Given the description of an element on the screen output the (x, y) to click on. 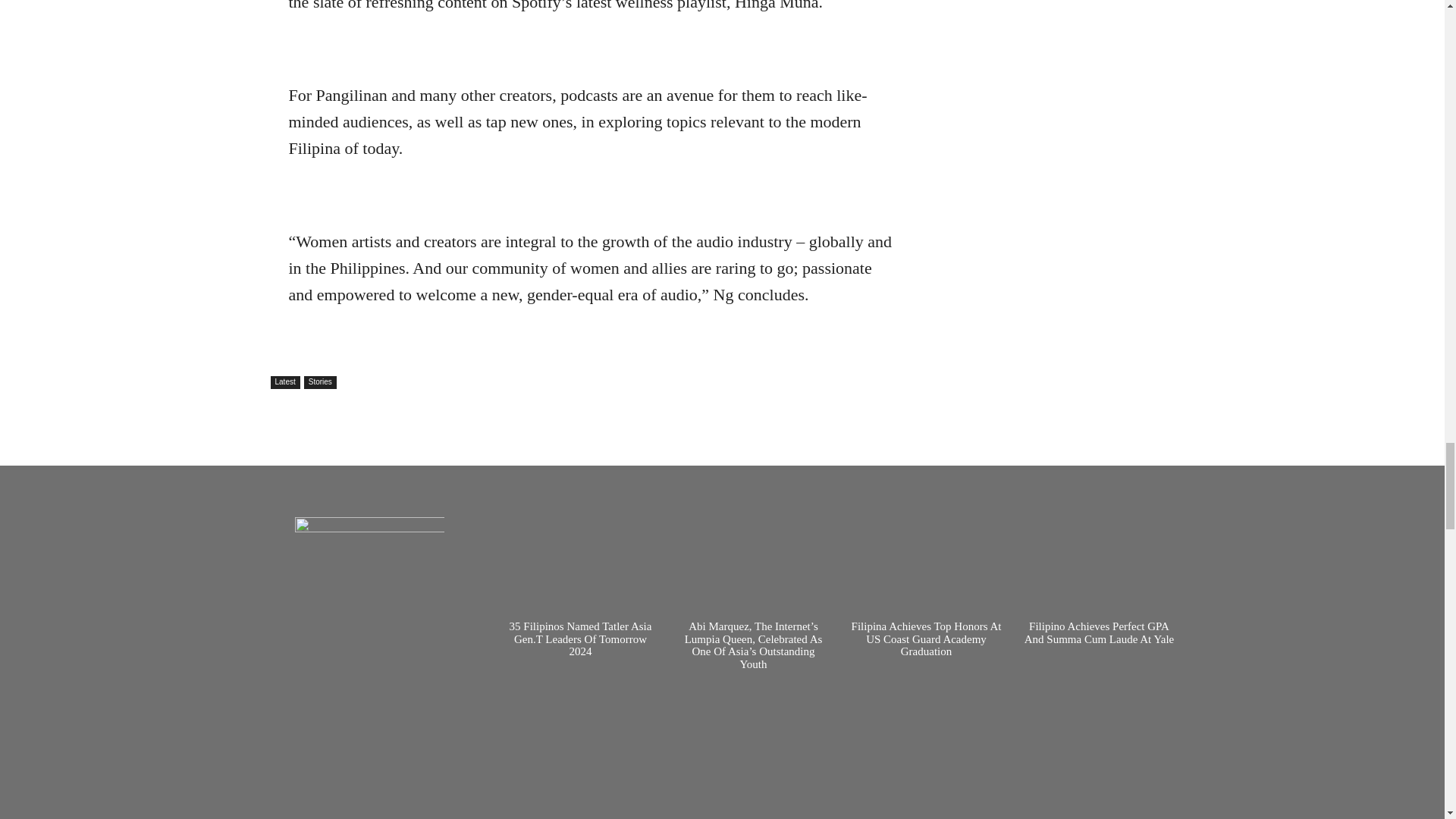
Latest (284, 382)
